Given the description of an element on the screen output the (x, y) to click on. 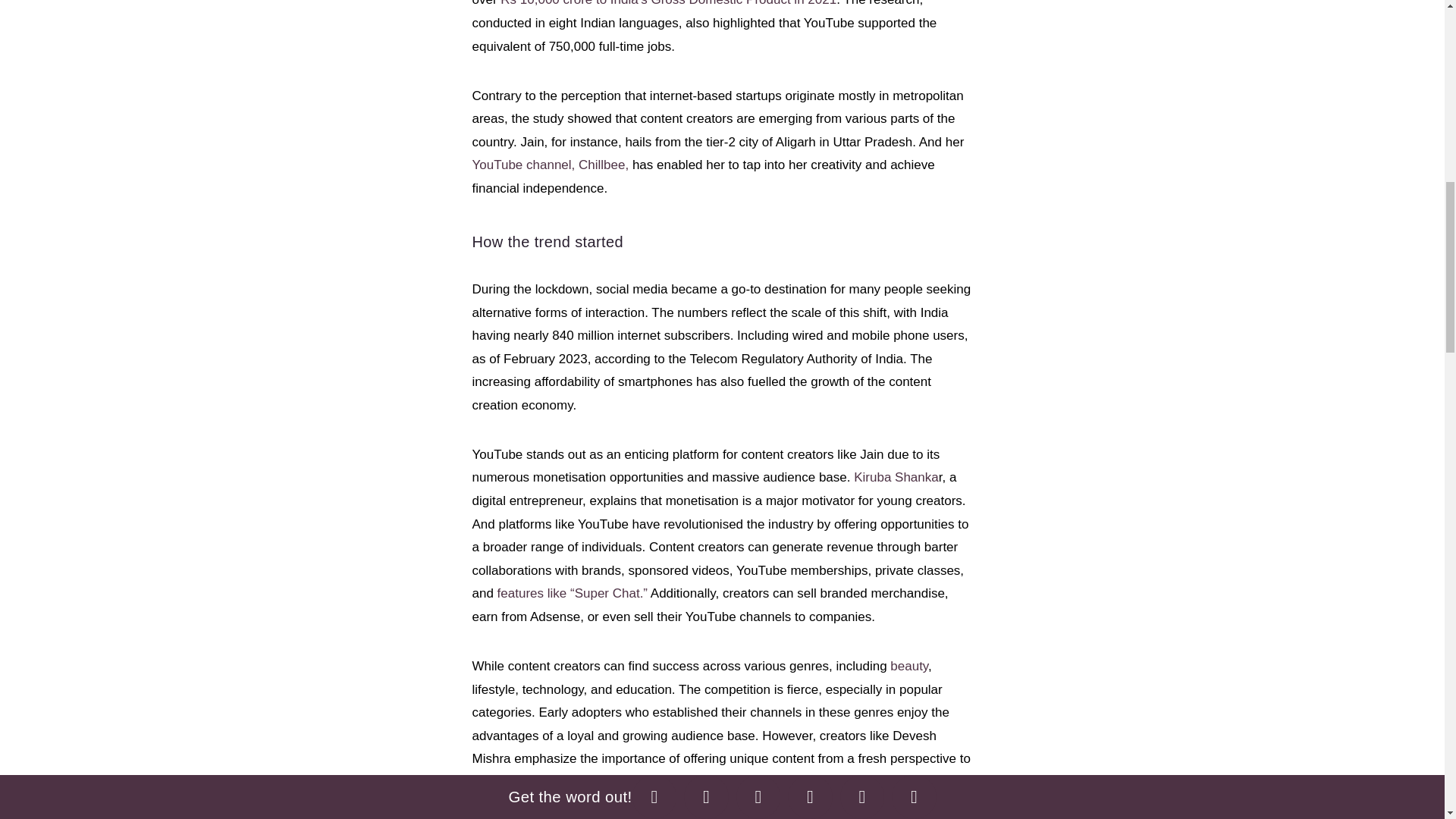
beauty (908, 666)
Kiruba Shanka (896, 477)
YouTube channel, Chillbee, (549, 164)
